Given the description of an element on the screen output the (x, y) to click on. 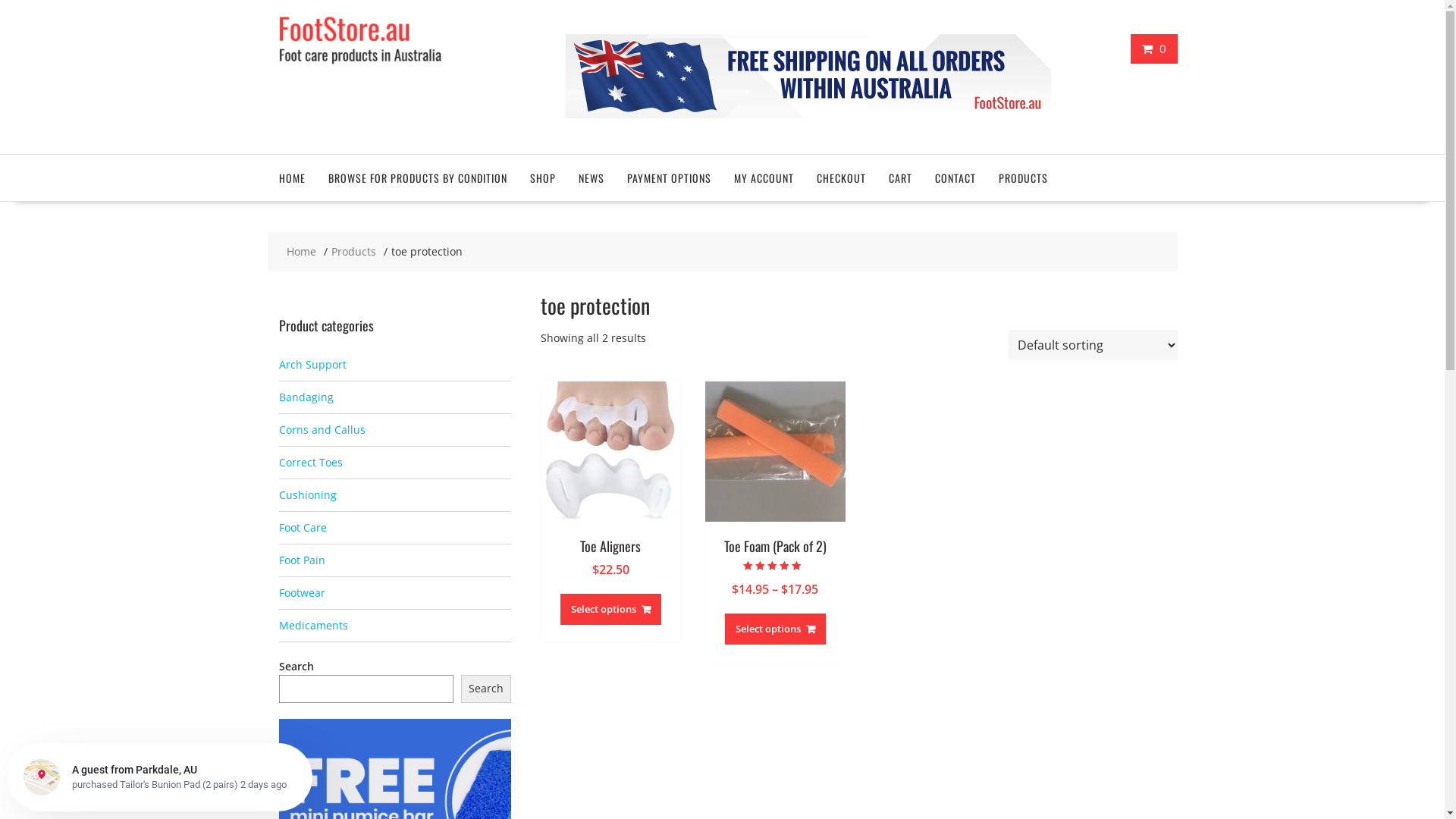
PAYMENT OPTIONS Element type: text (668, 177)
Corns and Callus Element type: text (322, 429)
Select options Element type: text (774, 628)
Cushioning Element type: text (307, 494)
CONTACT Element type: text (955, 177)
MY ACCOUNT Element type: text (762, 177)
Arch Support Element type: text (312, 364)
Toe Aligners
$22.50 Element type: text (609, 498)
PRODUCTS Element type: text (1023, 177)
NEWS Element type: text (591, 177)
Search Element type: text (486, 688)
Footwear Element type: text (302, 592)
Medicaments Element type: text (313, 625)
HOME Element type: text (291, 177)
Correct Toes Element type: text (310, 462)
BROWSE FOR PRODUCTS BY CONDITION Element type: text (417, 177)
SHOP Element type: text (542, 177)
Select options Element type: text (610, 608)
CHECKOUT Element type: text (841, 177)
Foot Pain Element type: text (302, 559)
CART Element type: text (899, 177)
Products Element type: text (352, 251)
0 Element type: text (1154, 48)
Bandaging Element type: text (306, 396)
Foot Care Element type: text (302, 527)
Home Element type: text (301, 251)
